Given the description of an element on the screen output the (x, y) to click on. 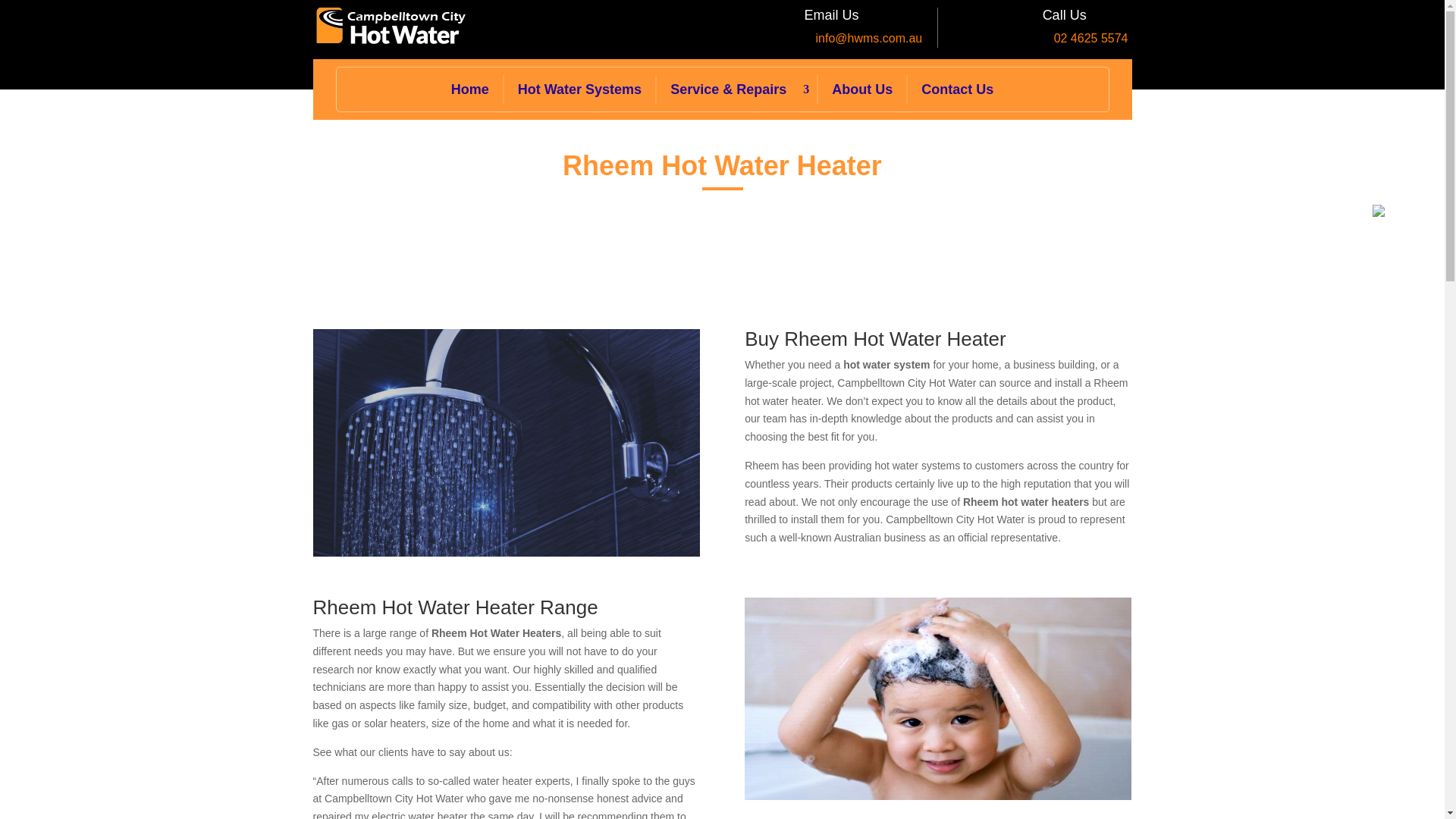
About Us (861, 89)
Home (470, 89)
02 4625 5574 (1091, 38)
Contact Us (956, 89)
Hot Water Systems (580, 89)
